Given the description of an element on the screen output the (x, y) to click on. 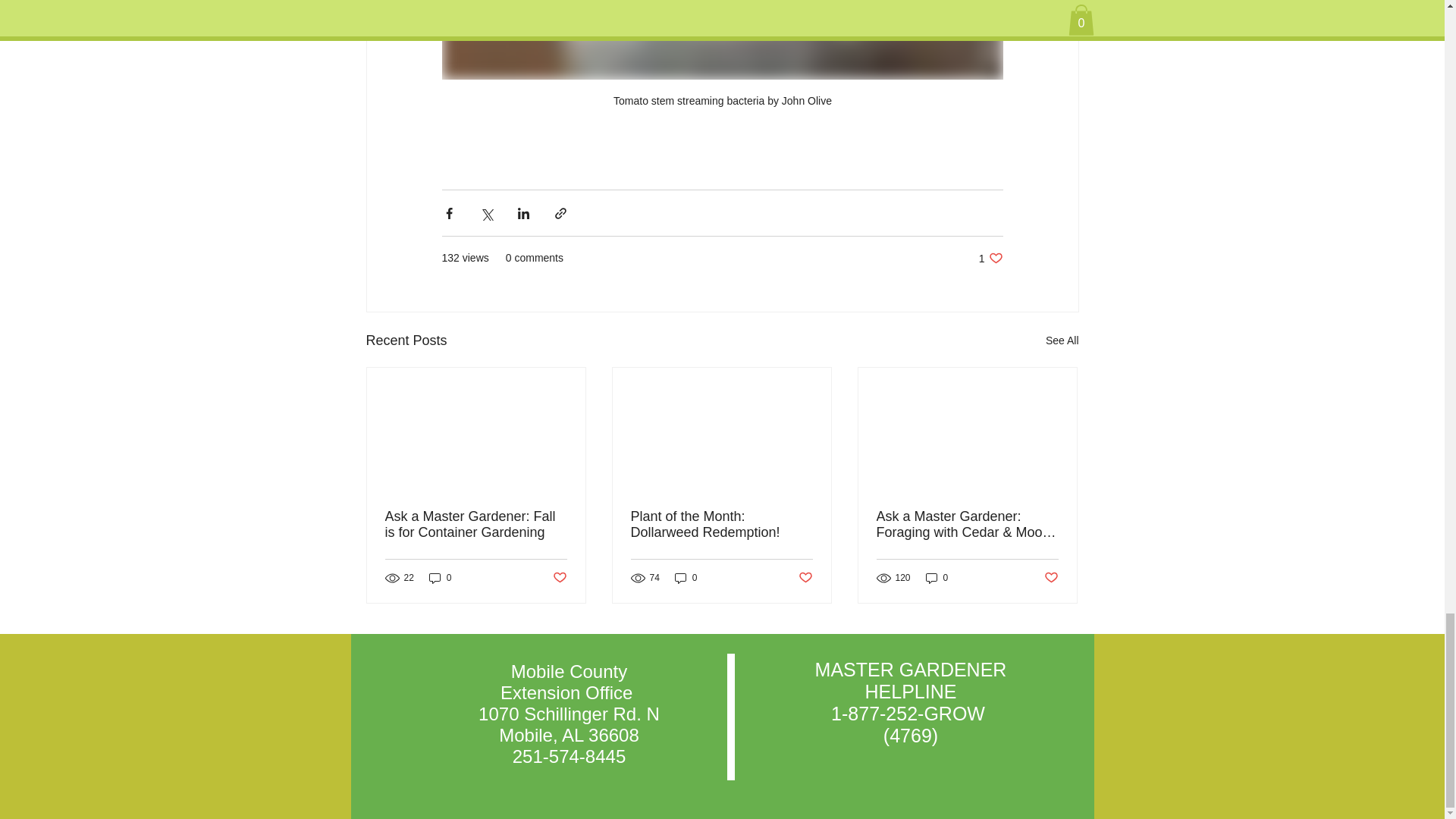
Plant of the Month: Dollarweed Redemption! (990, 257)
0 (721, 524)
Post not marked as liked (440, 577)
See All (1050, 578)
0 (1061, 341)
Post not marked as liked (685, 577)
0 (558, 578)
Ask a Master Gardener: Fall is for Container Gardening (937, 577)
Post not marked as liked (476, 524)
